Given the description of an element on the screen output the (x, y) to click on. 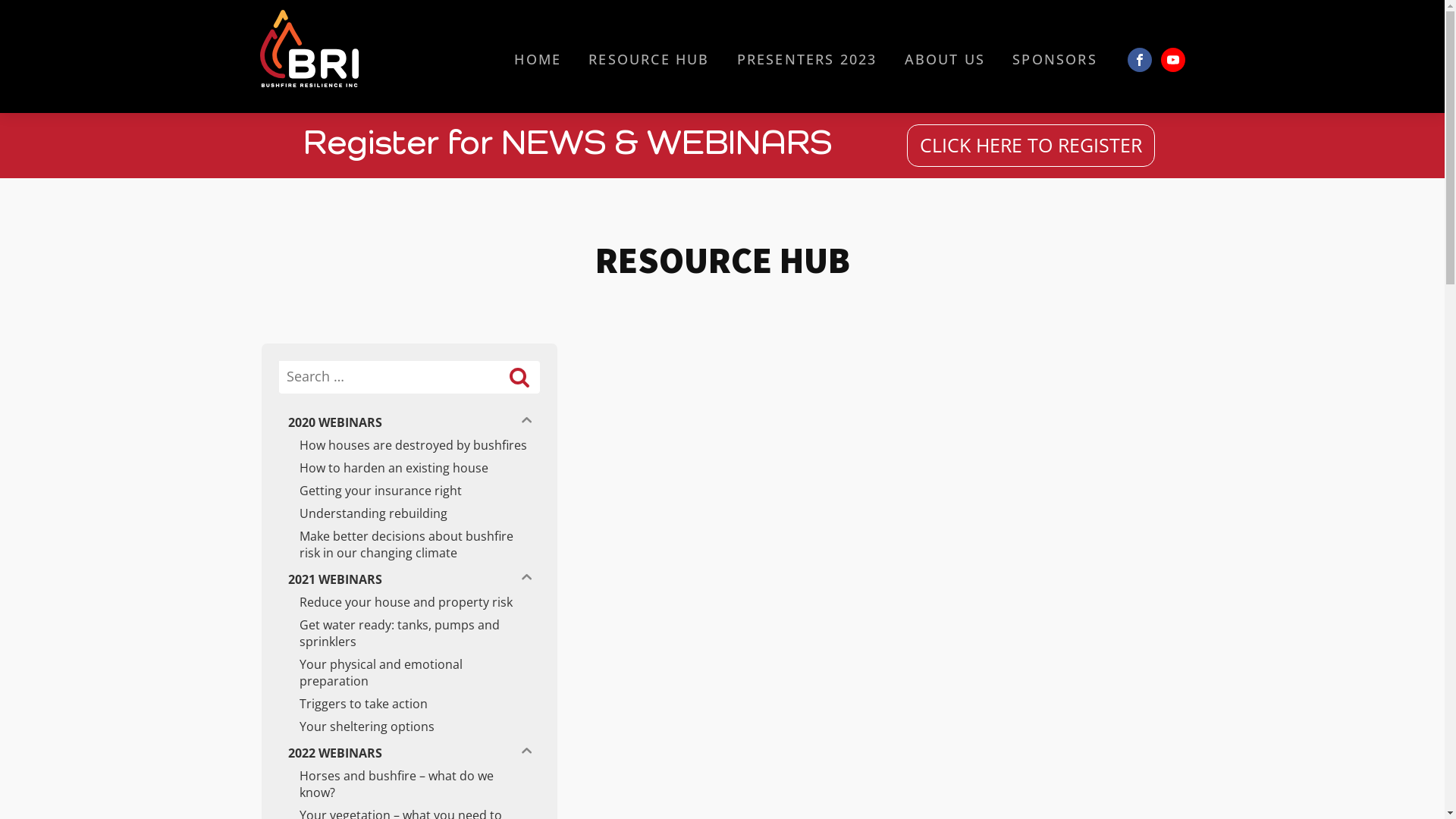
How houses are destroyed by bushfires Element type: text (408, 445)
Your sheltering options Element type: text (408, 726)
PRESENTERS 2023 Element type: text (807, 59)
Search Element type: text (314, 407)
Triggers to take action Element type: text (408, 703)
HOME Element type: text (537, 59)
ABOUT US Element type: text (945, 59)
2020 WEBINARS Element type: text (393, 422)
Getting your insurance right Element type: text (408, 490)
Understanding rebuilding Element type: text (408, 513)
Your physical and emotional preparation Element type: text (408, 672)
2021 WEBINARS Element type: text (393, 579)
RESOURCE HUB Element type: text (648, 59)
SPONSORS Element type: text (1054, 59)
Reduce your house and property risk Element type: text (408, 601)
CLICK HERE TO REGISTER Element type: text (1030, 145)
Get water ready: tanks, pumps and sprinklers Element type: text (408, 633)
How to harden an existing house Element type: text (408, 467)
2022 WEBINARS Element type: text (393, 752)
